Given the description of an element on the screen output the (x, y) to click on. 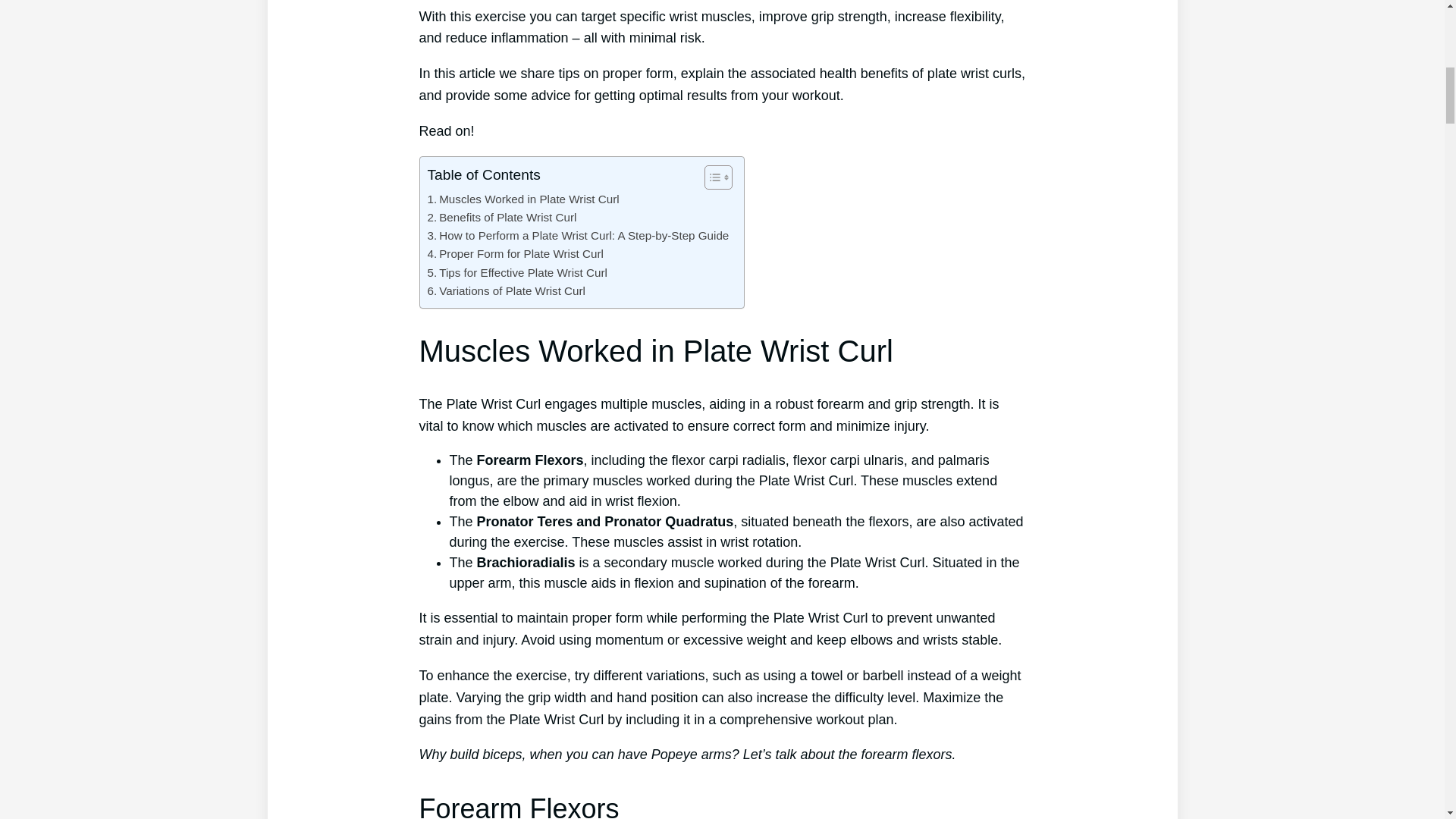
Muscles Worked in Plate Wrist Curl (524, 199)
Tips for Effective Plate Wrist Curl (517, 272)
Proper Form for Plate Wrist Curl (516, 253)
How to Perform a Plate Wrist Curl: A Step-by-Step Guide (578, 235)
How to Perform a Plate Wrist Curl: A Step-by-Step Guide (578, 235)
Muscles Worked in Plate Wrist Curl (524, 199)
Tips for Effective Plate Wrist Curl (517, 272)
Benefits of Plate Wrist Curl (502, 217)
Proper Form for Plate Wrist Curl (516, 253)
Benefits of Plate Wrist Curl (502, 217)
Variations of Plate Wrist Curl (506, 290)
Variations of Plate Wrist Curl (506, 290)
